Given the description of an element on the screen output the (x, y) to click on. 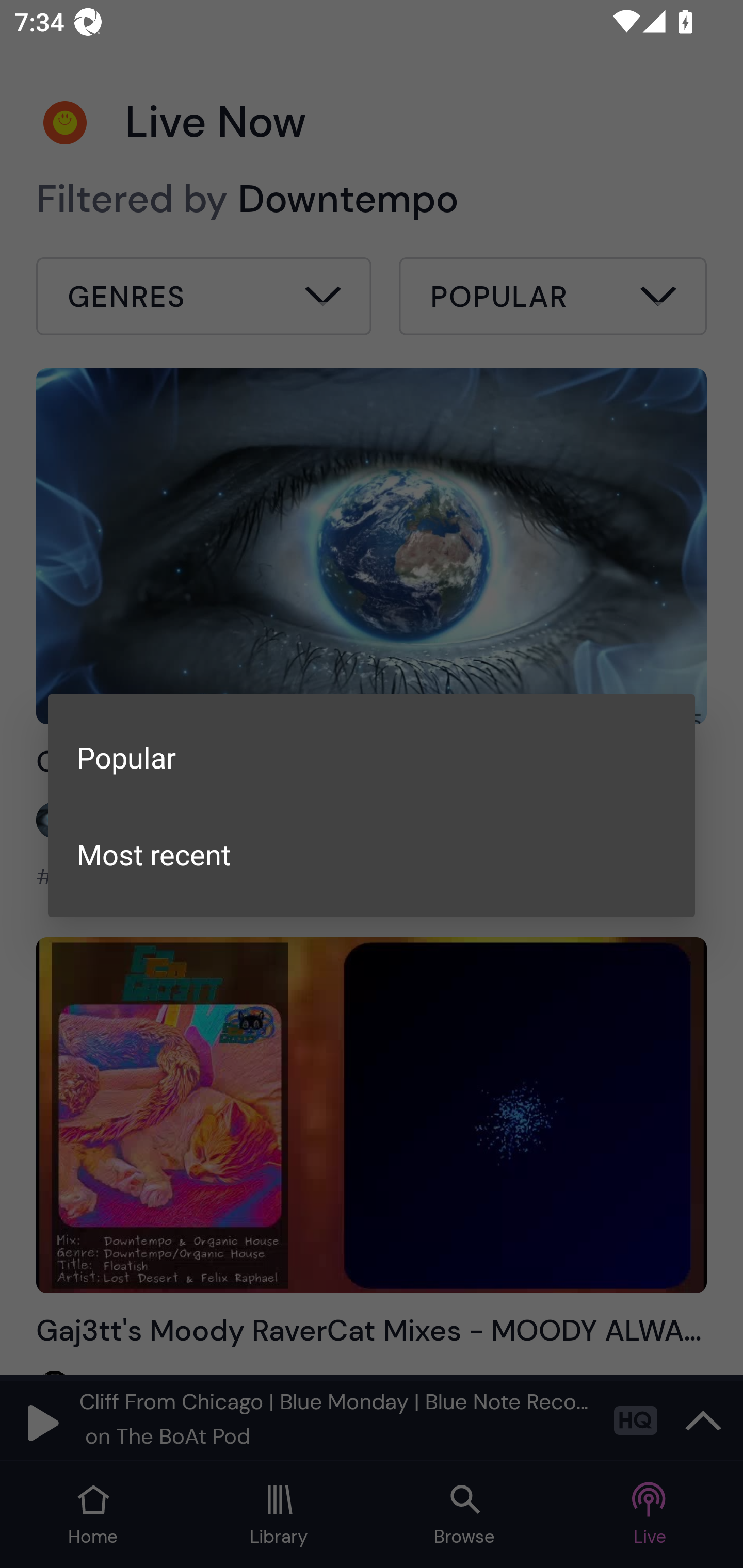
Popular (371, 756)
Most recent (371, 854)
